Given the description of an element on the screen output the (x, y) to click on. 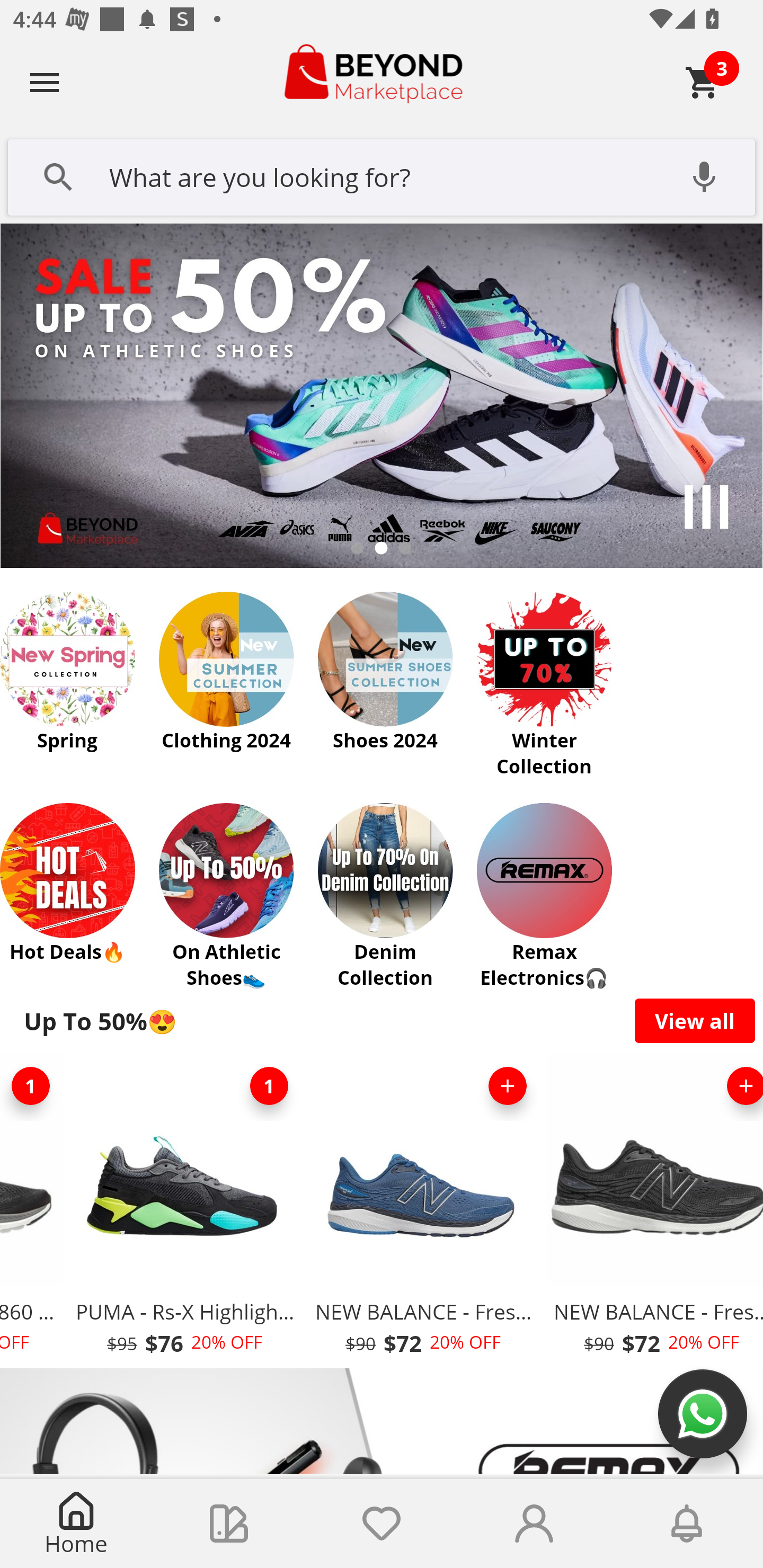
Navigate up (44, 82)
What are you looking for? (381, 175)
View all (694, 1020)
1 (32, 1085)
1 (269, 1085)
Collections (228, 1523)
Wishlist (381, 1523)
Account (533, 1523)
Notifications (686, 1523)
